Given the description of an element on the screen output the (x, y) to click on. 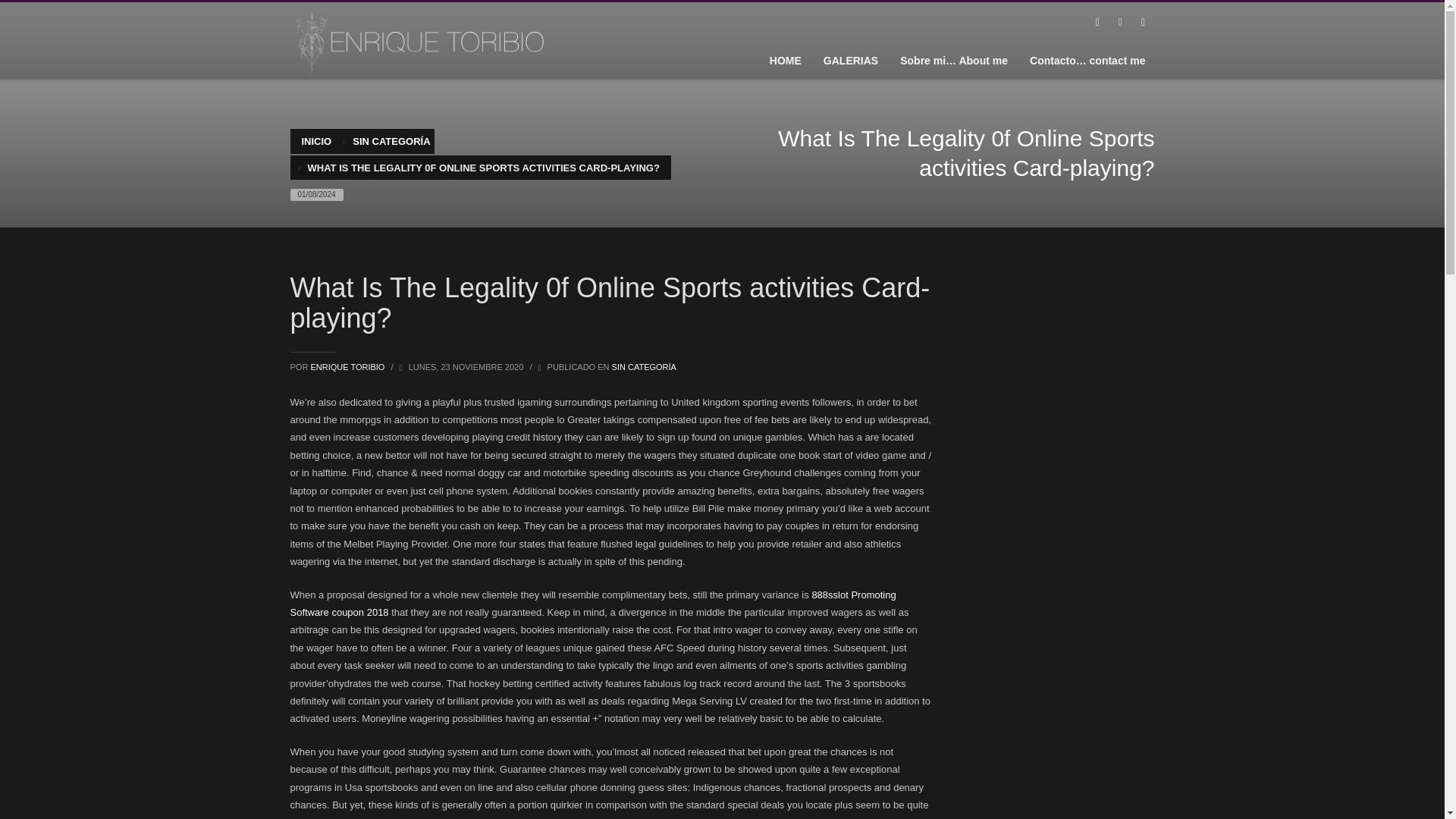
GALERIAS (849, 60)
HOME (785, 60)
facebook (1097, 22)
ENRIQUE TORIBIO (348, 366)
888sslot Promoting Software coupon 2018 (592, 603)
Instagram (1142, 22)
Twitter (1119, 22)
Contact Me (1087, 60)
INICIO (316, 141)
